Given the description of an element on the screen output the (x, y) to click on. 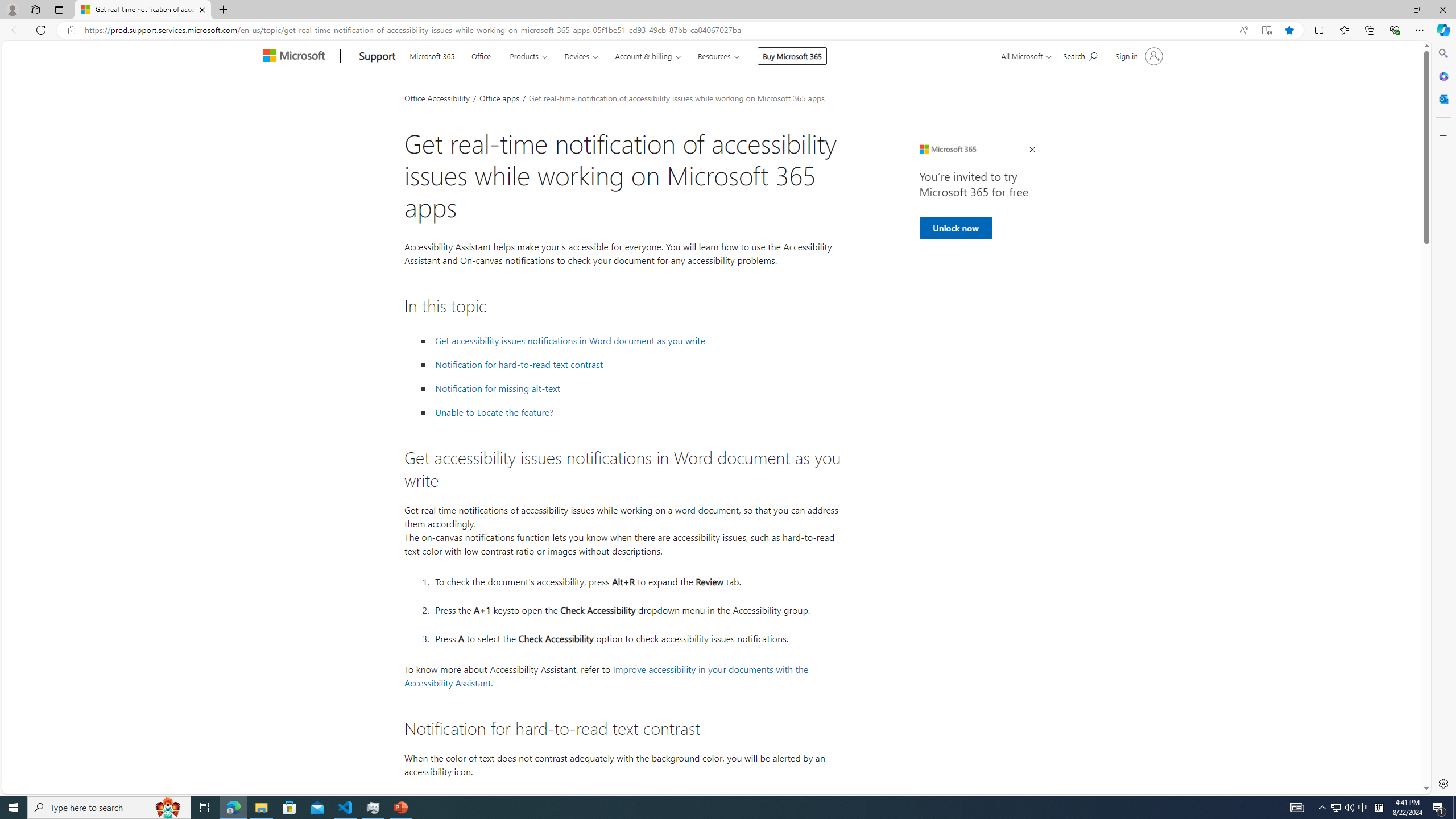
Support (377, 56)
 Notification for hard-to-read text contrast (518, 364)
Office apps  (500, 97)
Address and search bar (658, 29)
Customize (1442, 135)
Office (480, 54)
Office Accessibility (437, 97)
Workspaces (34, 9)
Outlook (1442, 98)
Notification for hard-to-read text contrast (635, 364)
